Given the description of an element on the screen output the (x, y) to click on. 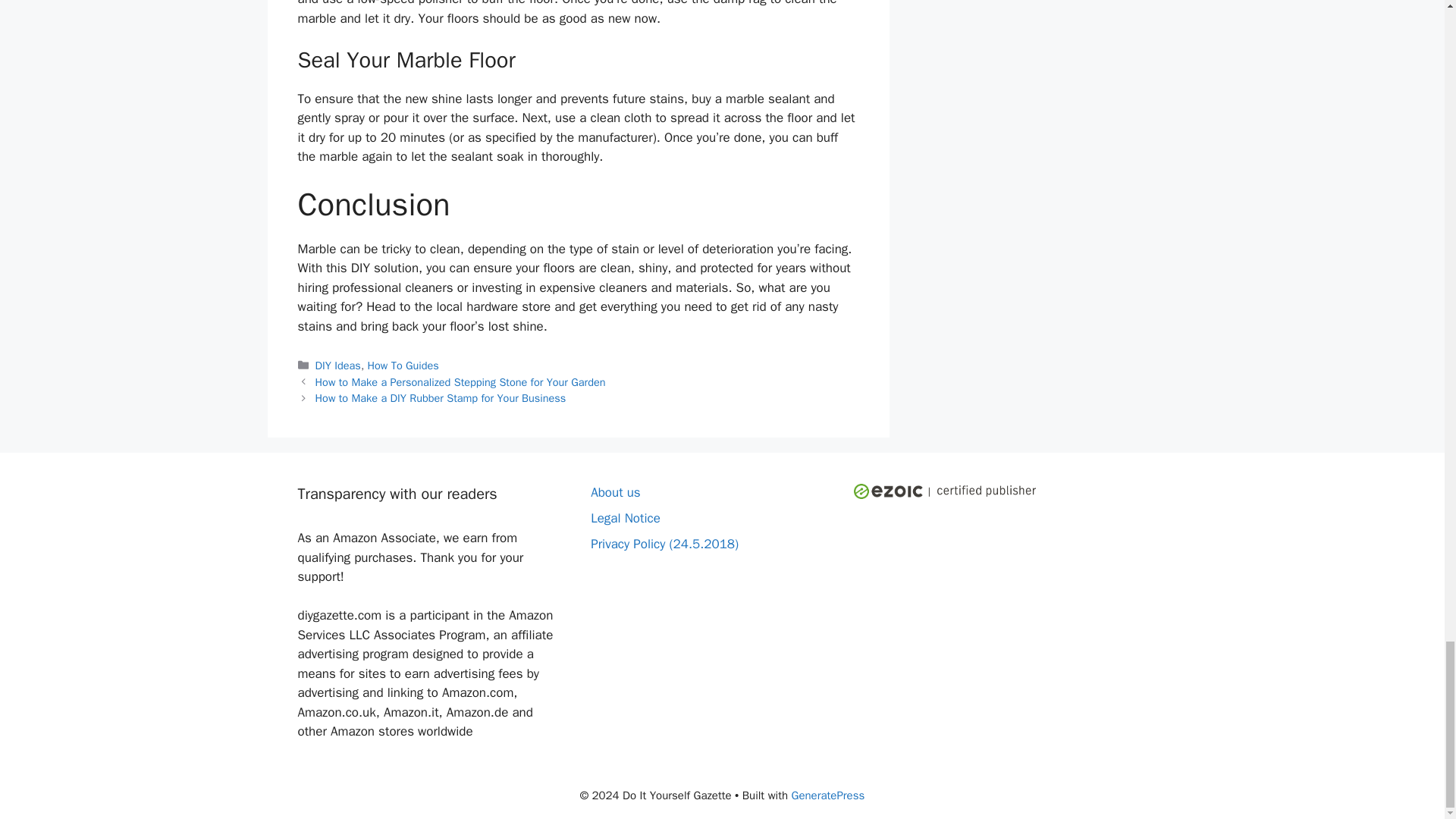
GeneratePress (828, 795)
Legal Notice (626, 518)
How to Make a Personalized Stepping Stone for Your Garden (460, 382)
How to Make a DIY Rubber Stamp for Your Business (440, 397)
About us (615, 492)
DIY Ideas (338, 365)
How To Guides (403, 365)
